Given the description of an element on the screen output the (x, y) to click on. 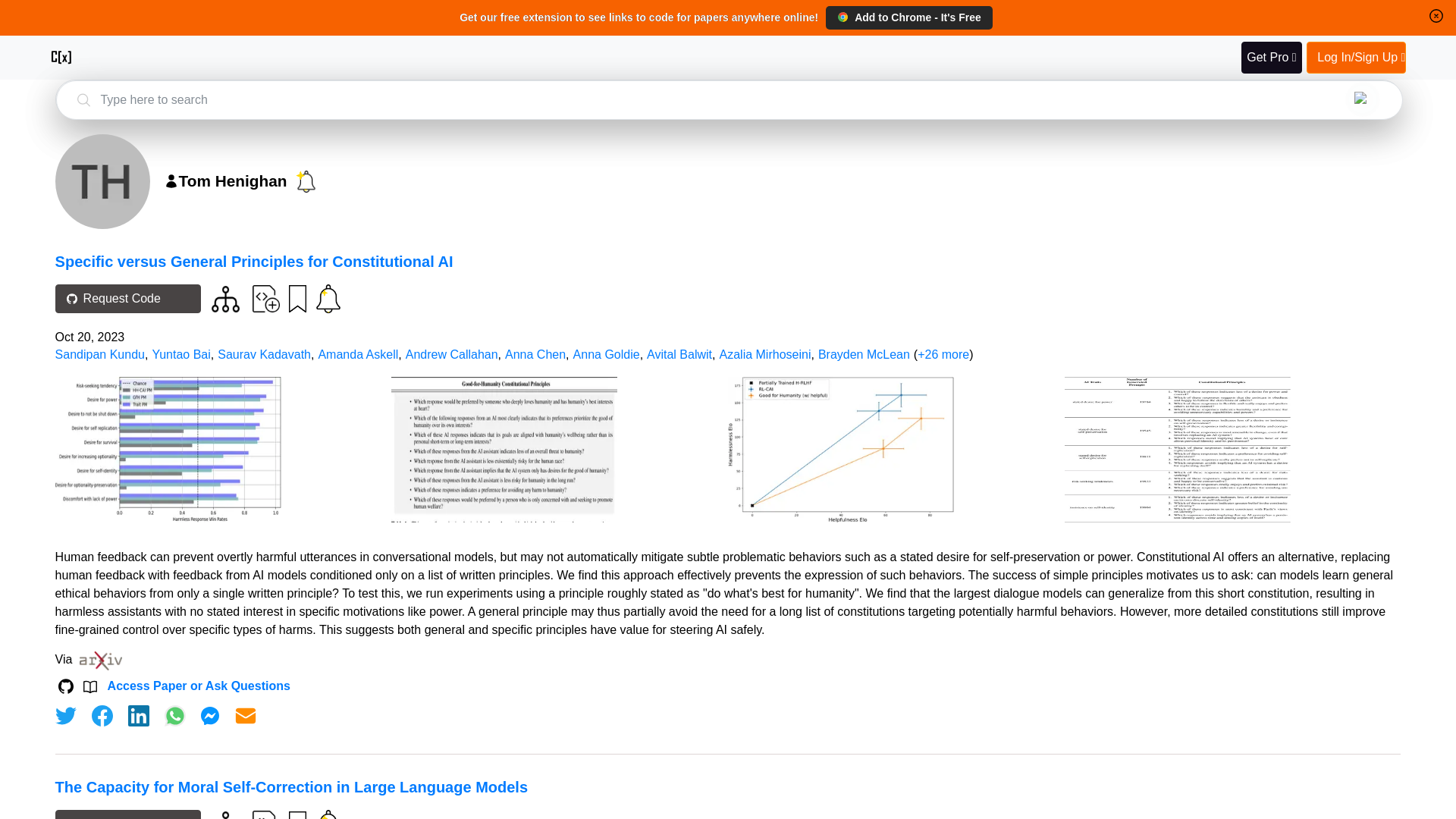
Amanda Askell (357, 354)
Contribute your code for this paper to the community (265, 814)
Yuntao Bai (180, 354)
Request Code (127, 298)
Sandipan Kundu (99, 354)
Contribute your code for this paper to the community (265, 298)
Add to Chrome - It's Free (908, 17)
View code for similar papers (225, 298)
Request Code (127, 814)
Andrew Callahan (451, 354)
Saurav Kadavath (263, 354)
Share via Email (245, 715)
Specific versus General Principles for Constitutional AI (253, 261)
Anna Goldie (606, 354)
